Given the description of an element on the screen output the (x, y) to click on. 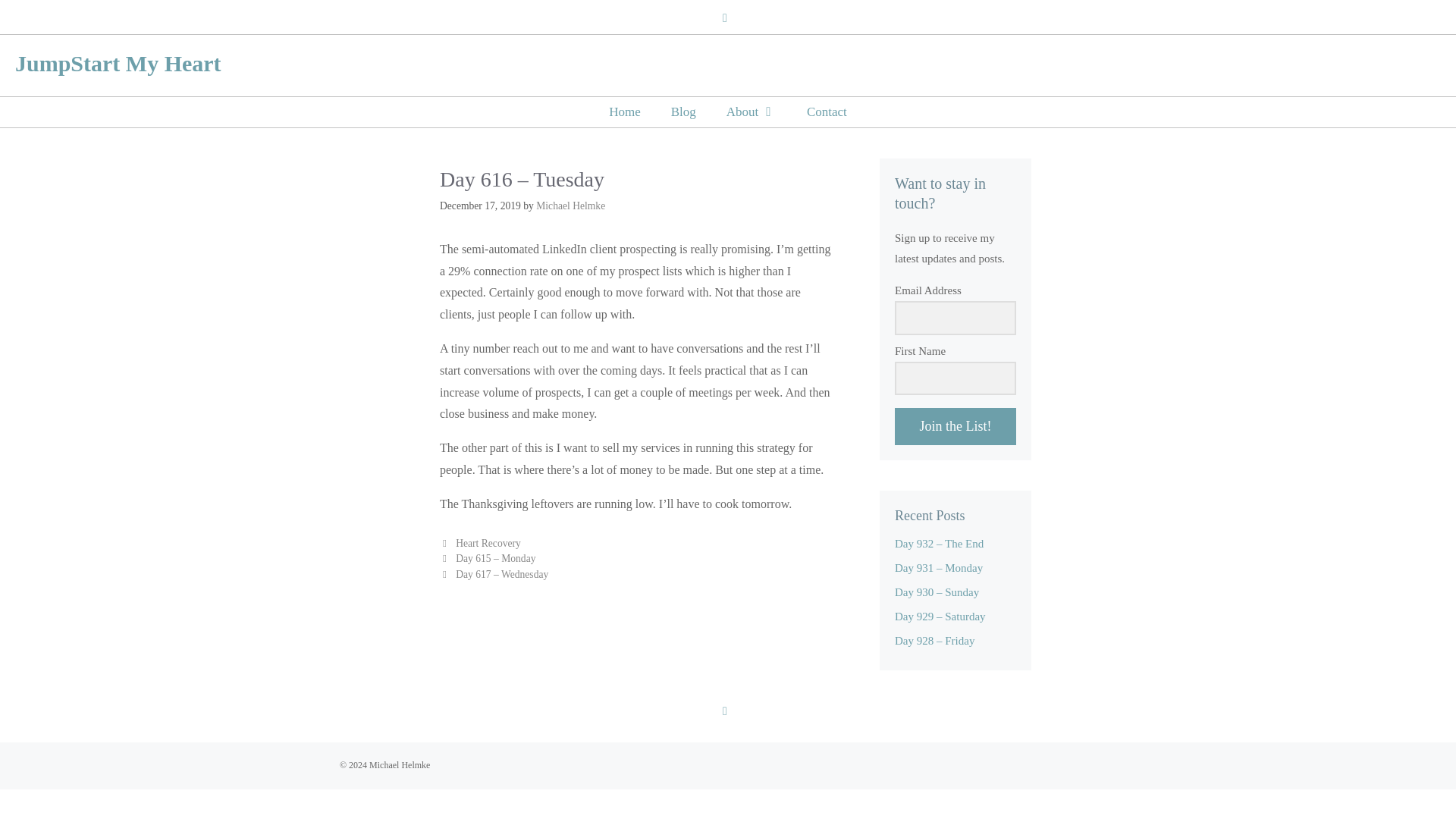
Facebook (724, 711)
Michael Helmke (570, 205)
View all posts by Michael Helmke (570, 205)
JumpStart My Heart (117, 63)
Facebook (724, 17)
Heart Recovery (488, 542)
Contact (826, 112)
About (751, 112)
Blog (683, 112)
Join the List! (955, 426)
